Given the description of an element on the screen output the (x, y) to click on. 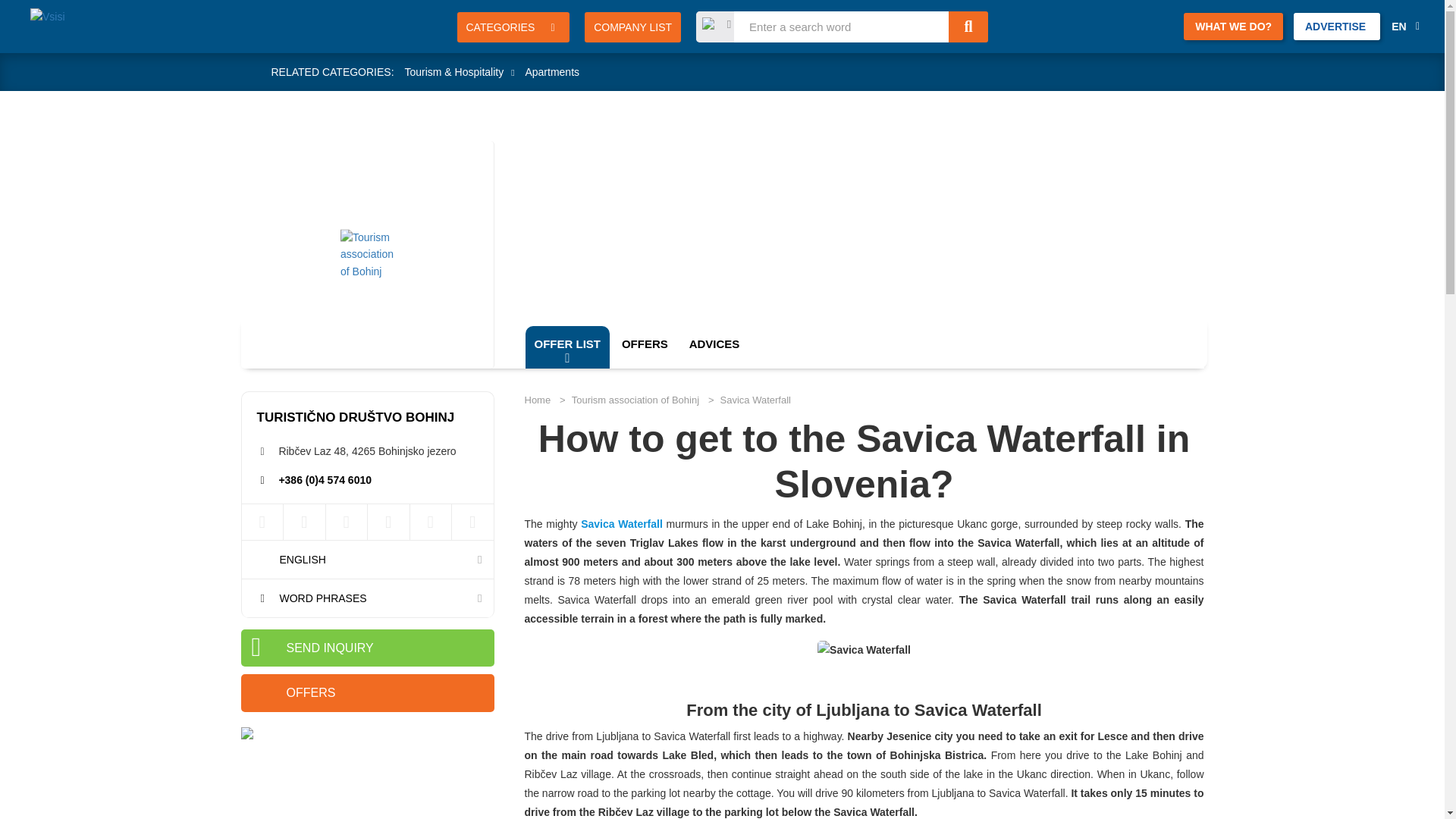
Apartments (551, 71)
Tourism association of Bohinj (847, 163)
Savica Waterfall (863, 650)
WHAT WE DO? (1232, 26)
Savica Waterfall (621, 523)
COMPANY LIST (633, 27)
ADVERTISE (1337, 26)
CATEGORIES (513, 27)
EN (1404, 26)
